Given the description of an element on the screen output the (x, y) to click on. 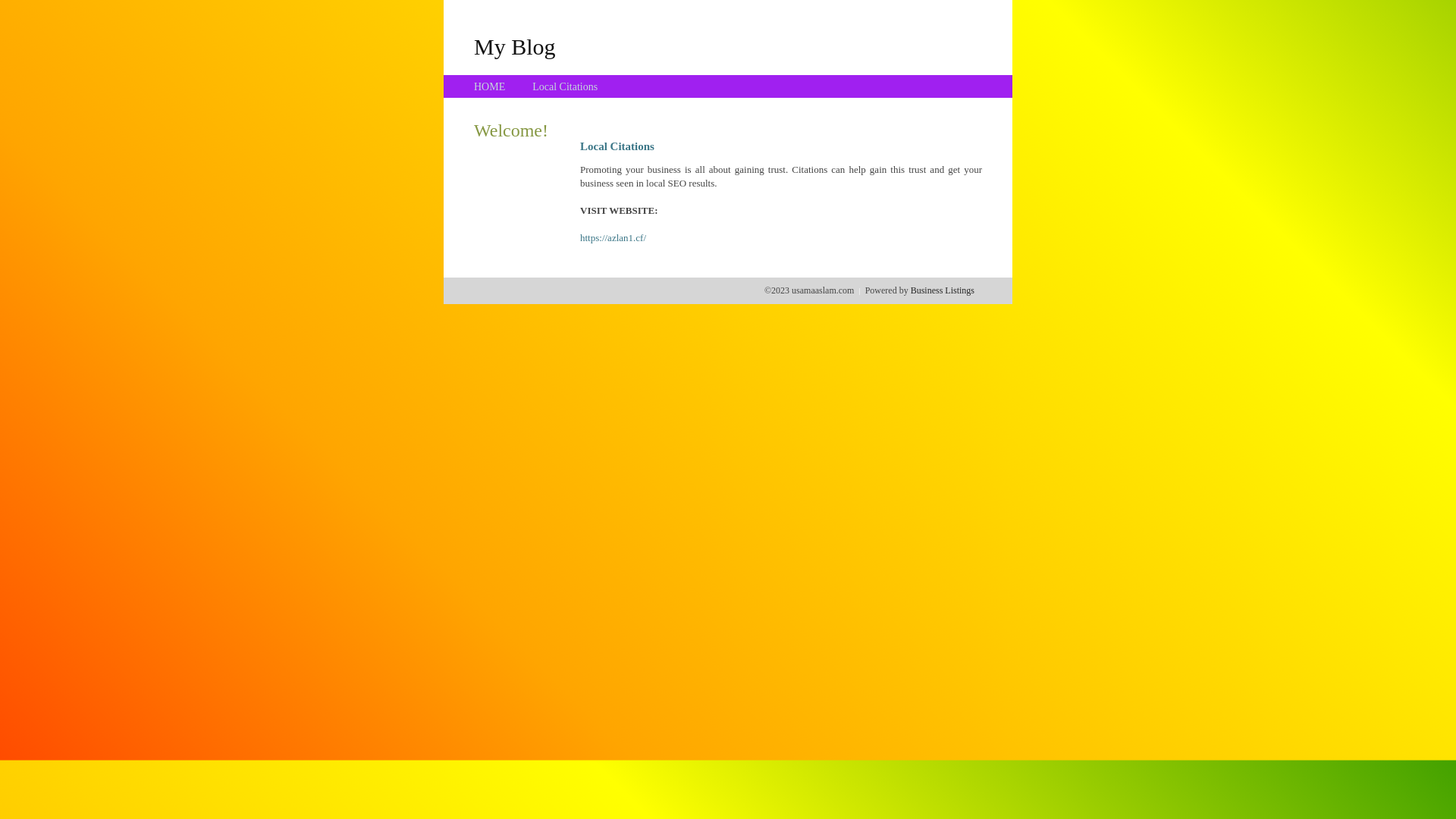
Local Citations Element type: text (564, 86)
Business Listings Element type: text (942, 290)
https://azlan1.cf/ Element type: text (613, 237)
HOME Element type: text (489, 86)
My Blog Element type: text (514, 46)
